Given the description of an element on the screen output the (x, y) to click on. 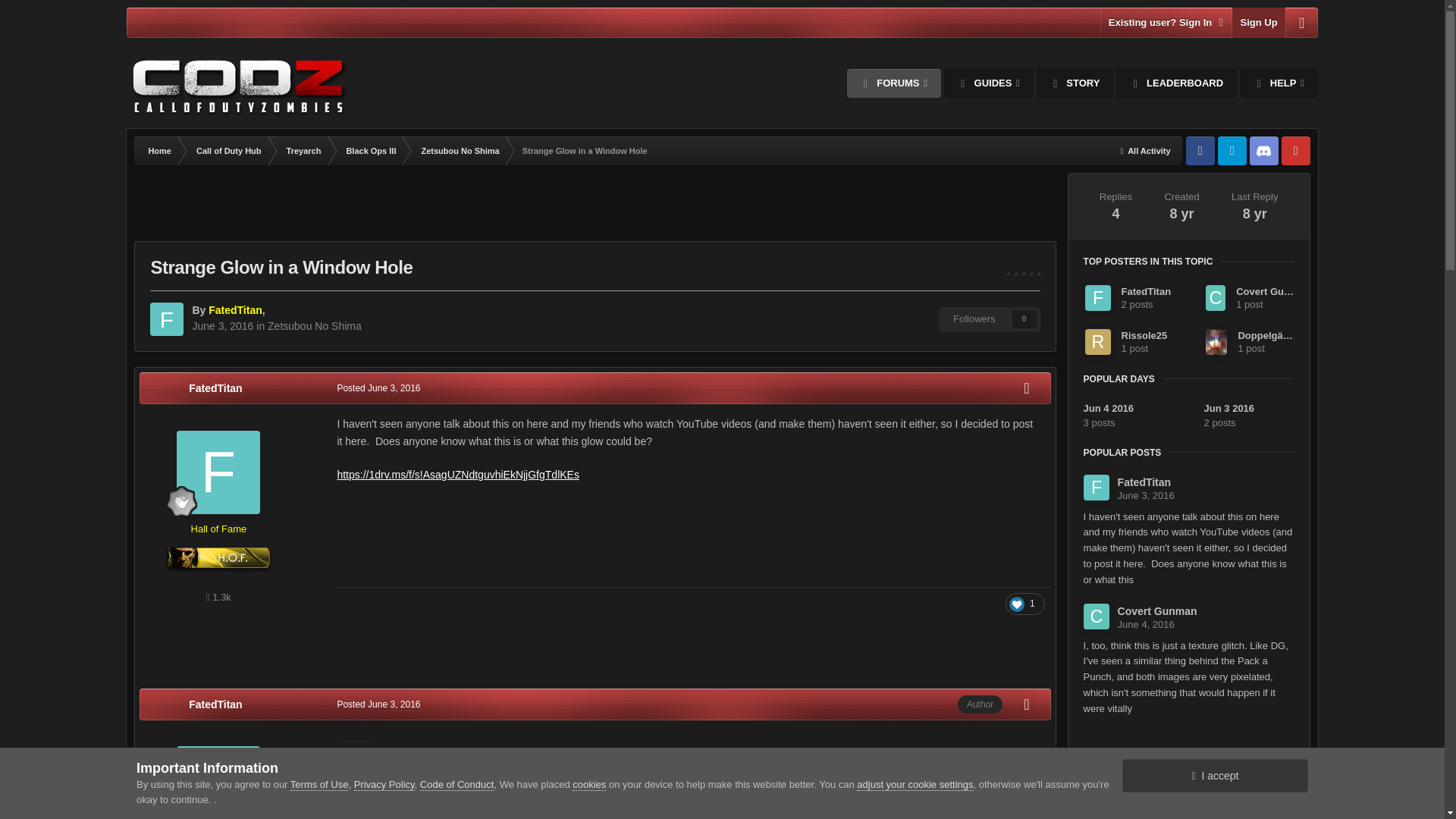
HELP (1278, 82)
1,288 posts (218, 596)
More options... (1026, 388)
Home (158, 150)
LEADERBOARD (1176, 82)
Go to FatedTitan's profile (216, 387)
Sign Up (1257, 22)
Existing user? Sign In   (1165, 22)
Go to FatedTitan's profile (218, 472)
Sign in to follow this (990, 319)
STORY (1074, 82)
FORUMS (893, 82)
Like (1025, 603)
Go to FatedTitan's profile (235, 309)
GUIDES (988, 82)
